Given the description of an element on the screen output the (x, y) to click on. 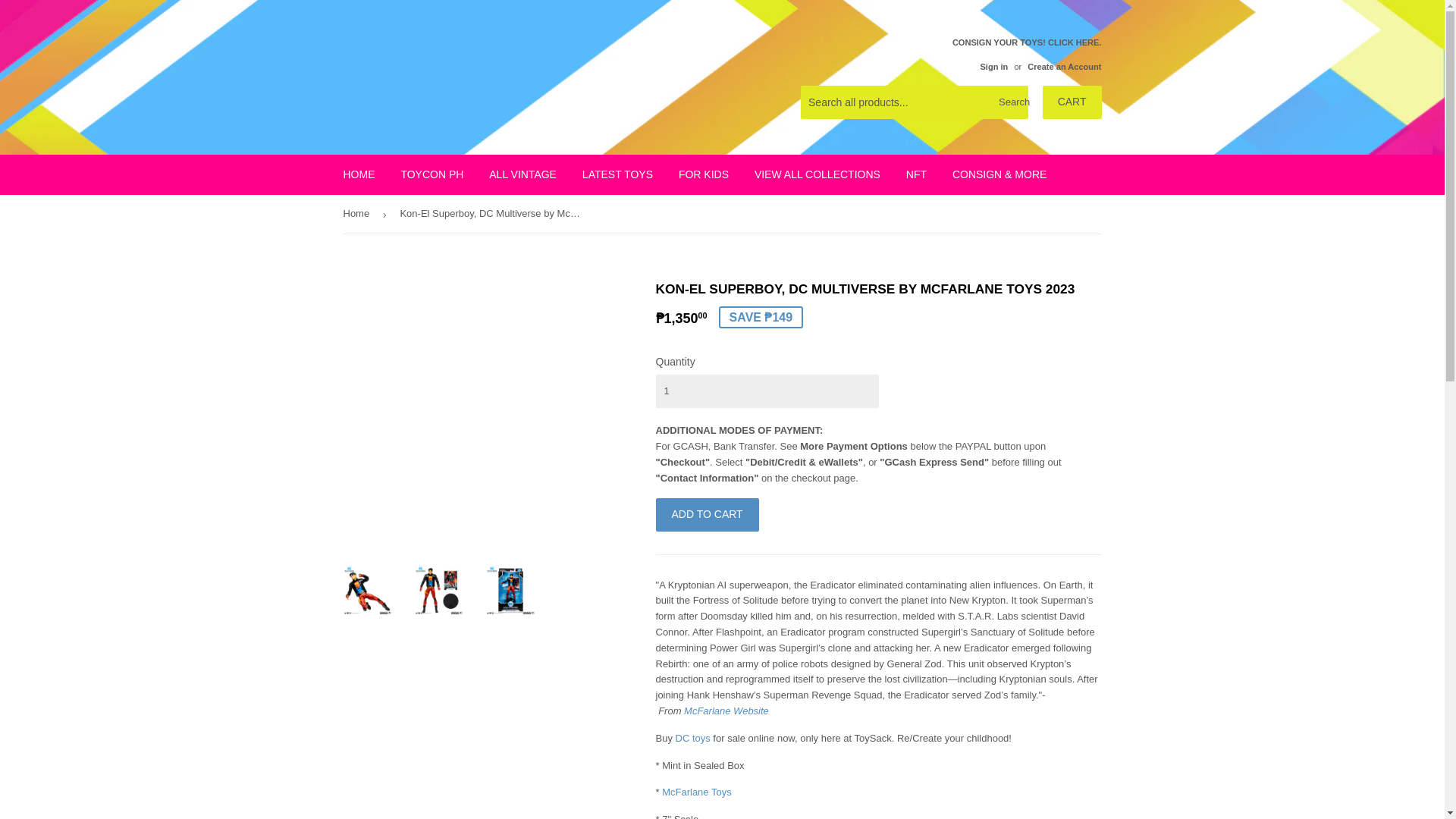
1 (766, 390)
CART (1072, 101)
Search (1010, 102)
Create an Account (1063, 66)
CONSIGN YOUR TOYS! CLICK HERE. (1027, 54)
Sign in (993, 66)
McFarlane Toys Website (726, 710)
Back to the frontpage (358, 213)
